Given the description of an element on the screen output the (x, y) to click on. 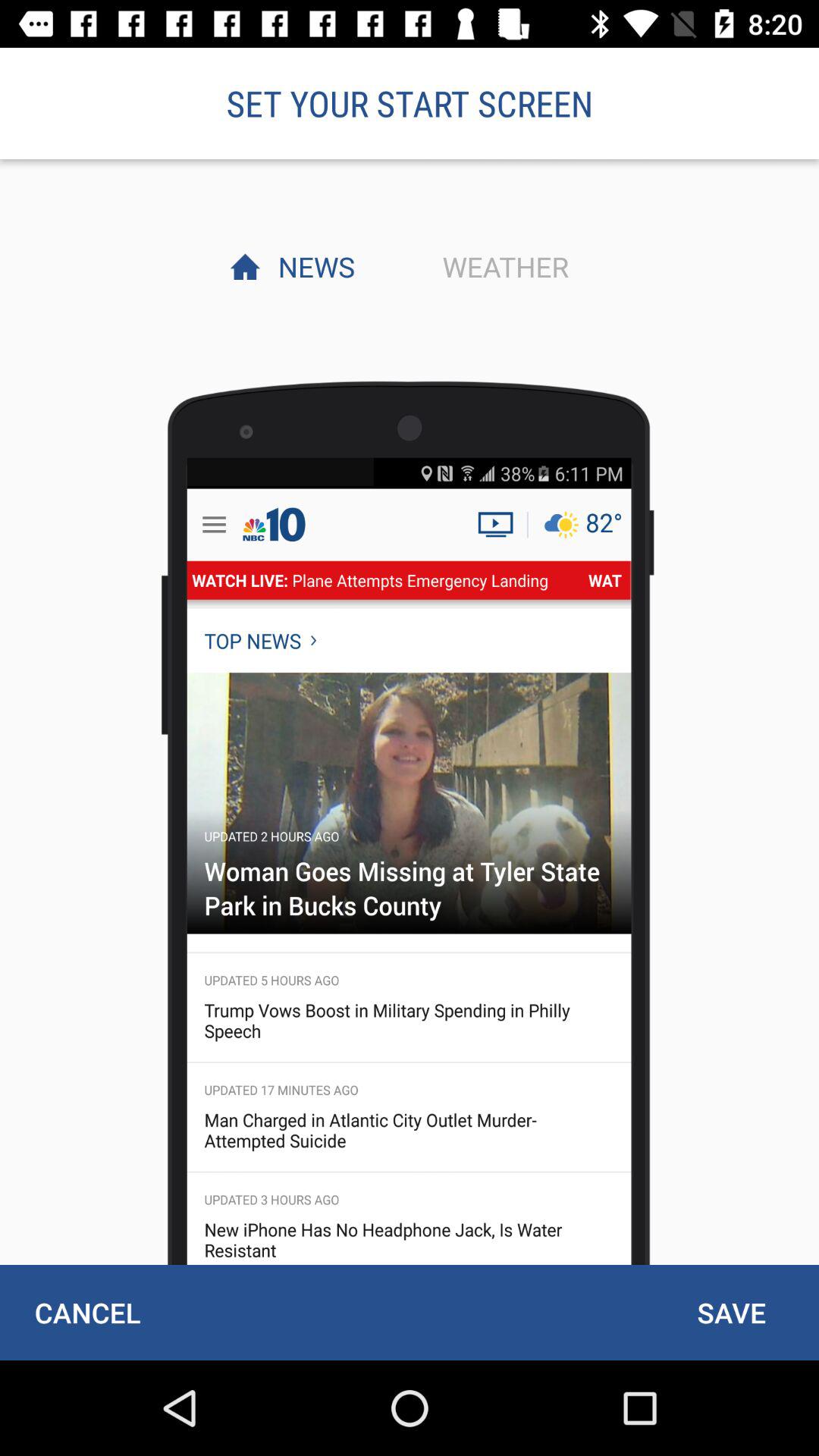
turn off item next to cancel (731, 1312)
